Given the description of an element on the screen output the (x, y) to click on. 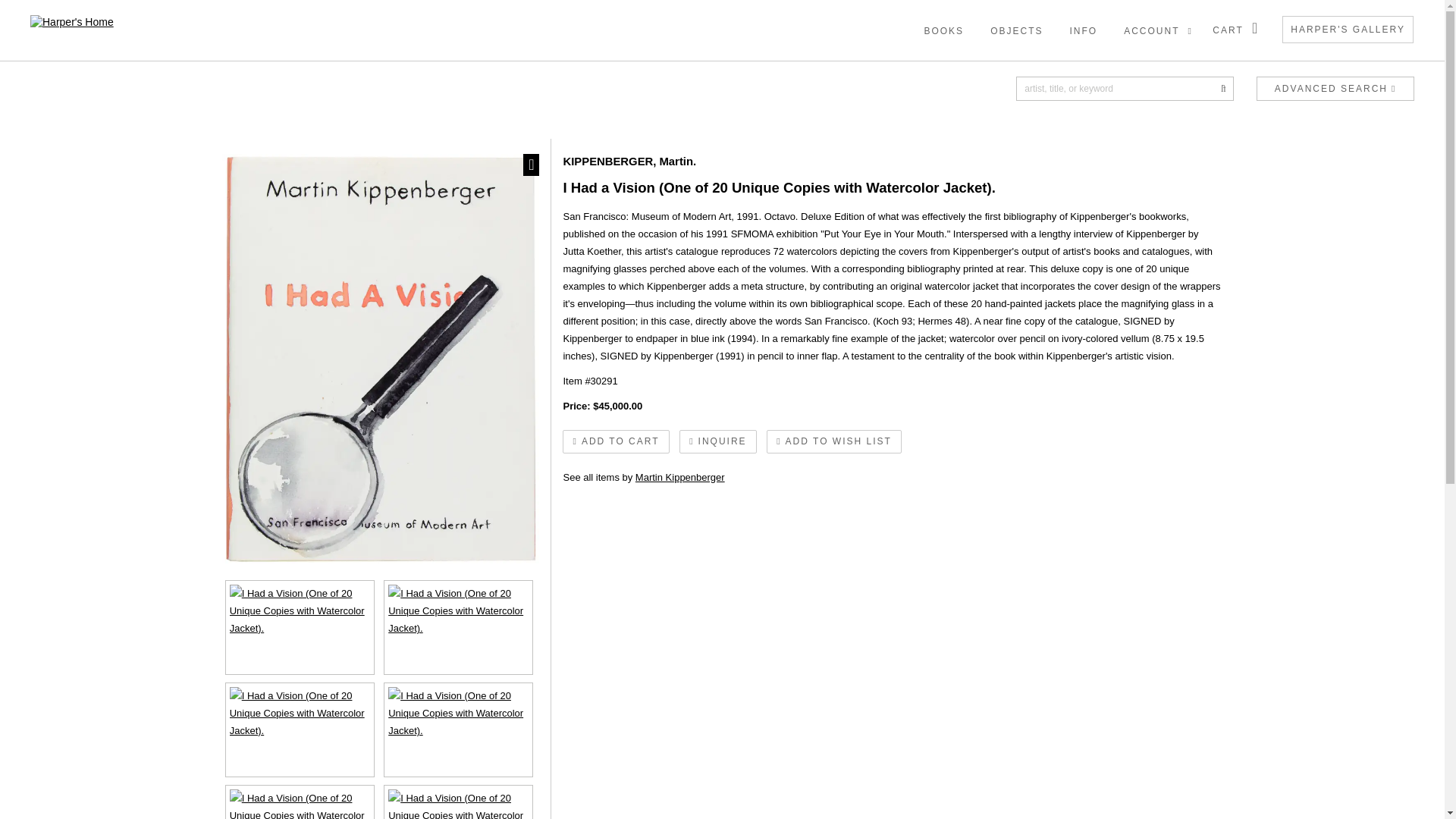
ACCOUNT (1237, 30)
INFO (1160, 31)
HARPER'S GALLERY (1096, 26)
Skip to main content (1347, 29)
SUBMIT SEARCH (8, 7)
OBJECTS (1222, 87)
ADVANCED SEARCH (1029, 26)
BOOKS (1335, 86)
ADD TO CART (956, 26)
Martin Kippenberger (615, 441)
ADD TO WISH LIST (679, 477)
INQUIRE (834, 441)
